Given the description of an element on the screen output the (x, y) to click on. 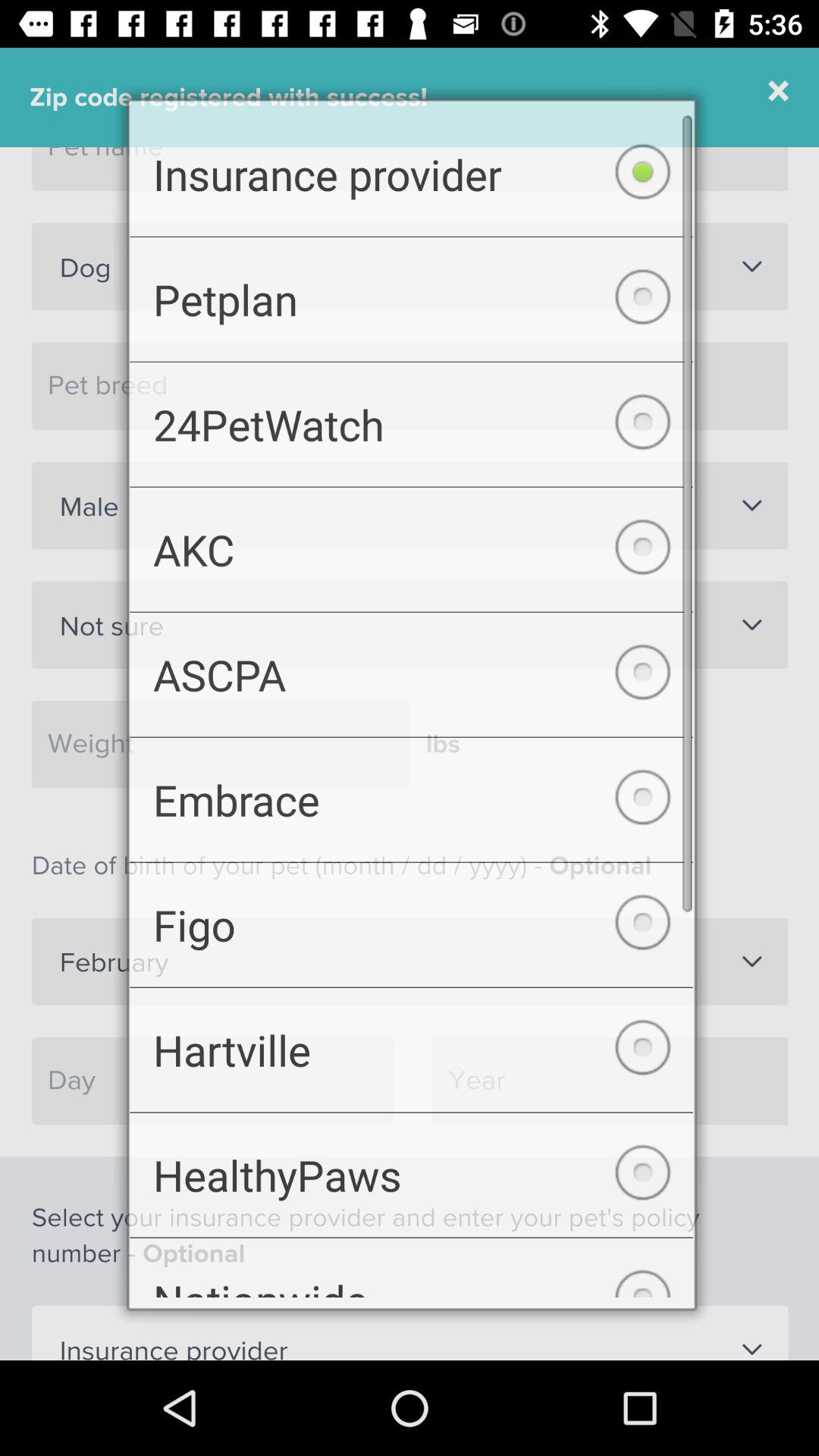
launch the icon below 24petwatch item (411, 545)
